Given the description of an element on the screen output the (x, y) to click on. 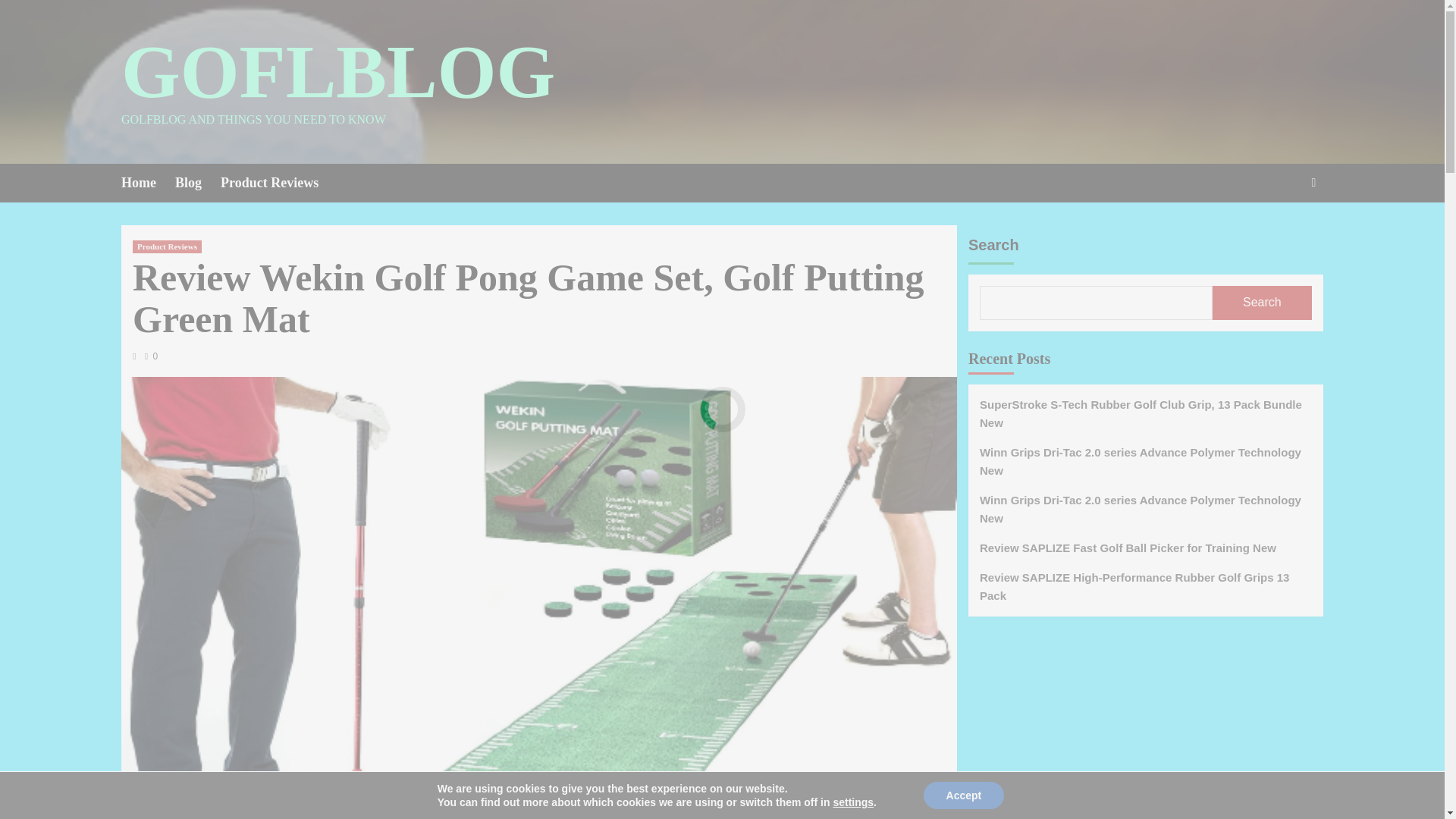
Product Reviews (167, 246)
Home (147, 182)
Blog (197, 182)
Search (1278, 229)
Product Reviews (279, 182)
GOFLBLOG (337, 71)
0 (150, 356)
